Given the description of an element on the screen output the (x, y) to click on. 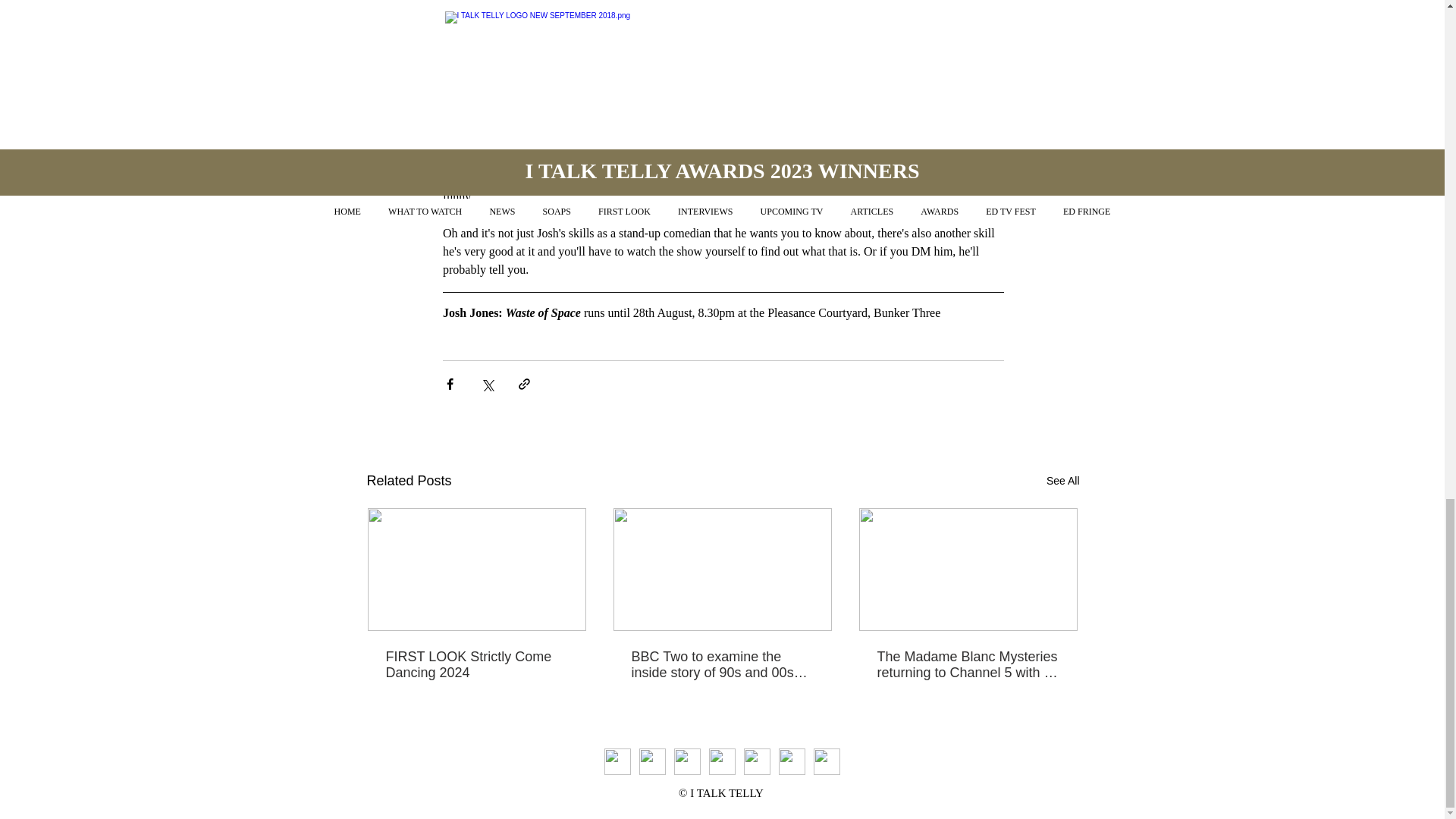
See All (1063, 481)
Josh Jones:  (473, 312)
FIRST LOOK Strictly Come Dancing 2024 (476, 664)
Waste of Space  (544, 312)
